Given the description of an element on the screen output the (x, y) to click on. 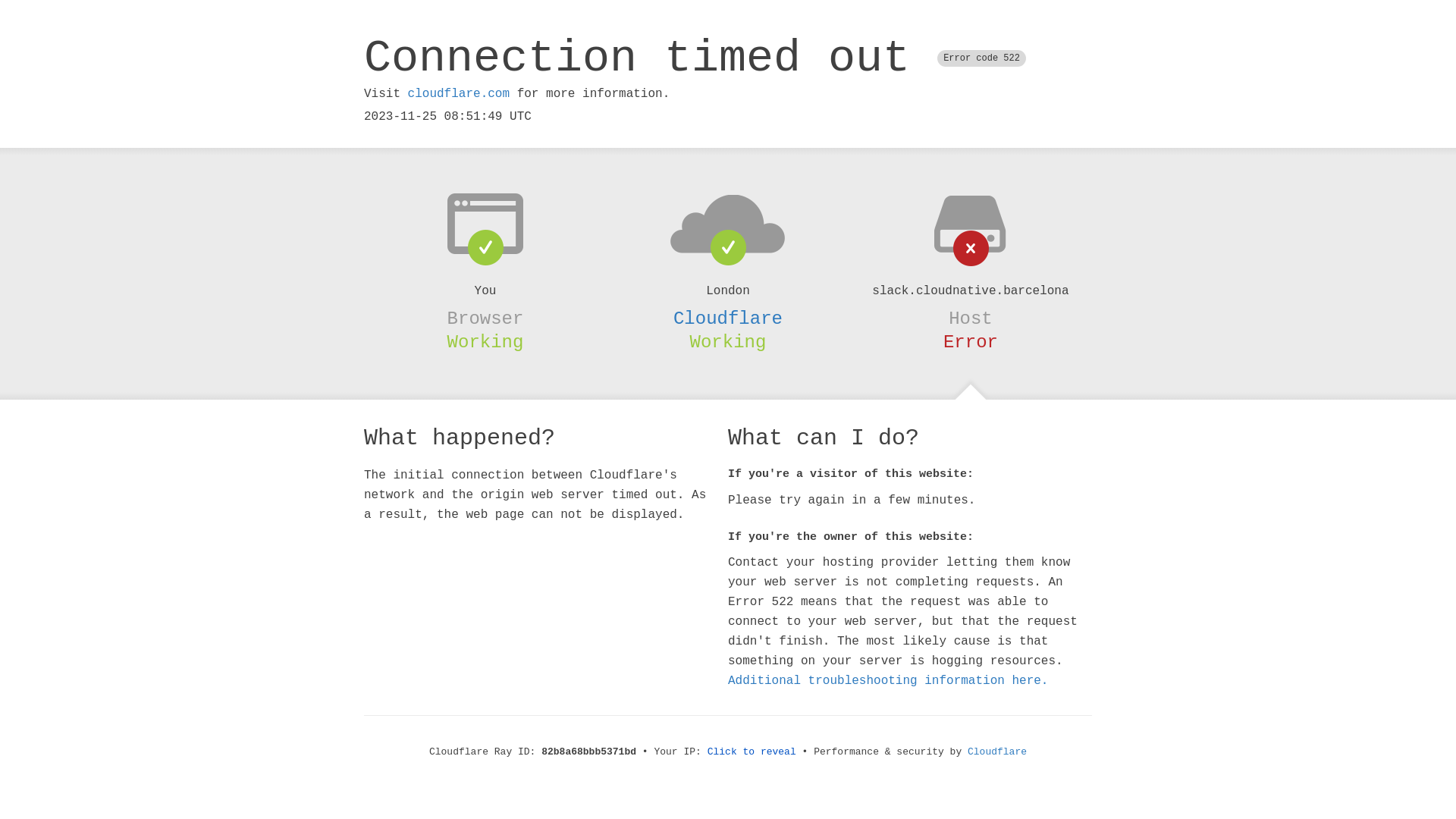
Cloudflare Element type: text (996, 751)
Click to reveal Element type: text (751, 751)
cloudflare.com Element type: text (458, 93)
Cloudflare Element type: text (727, 318)
Additional troubleshooting information here. Element type: text (888, 680)
